Given the description of an element on the screen output the (x, y) to click on. 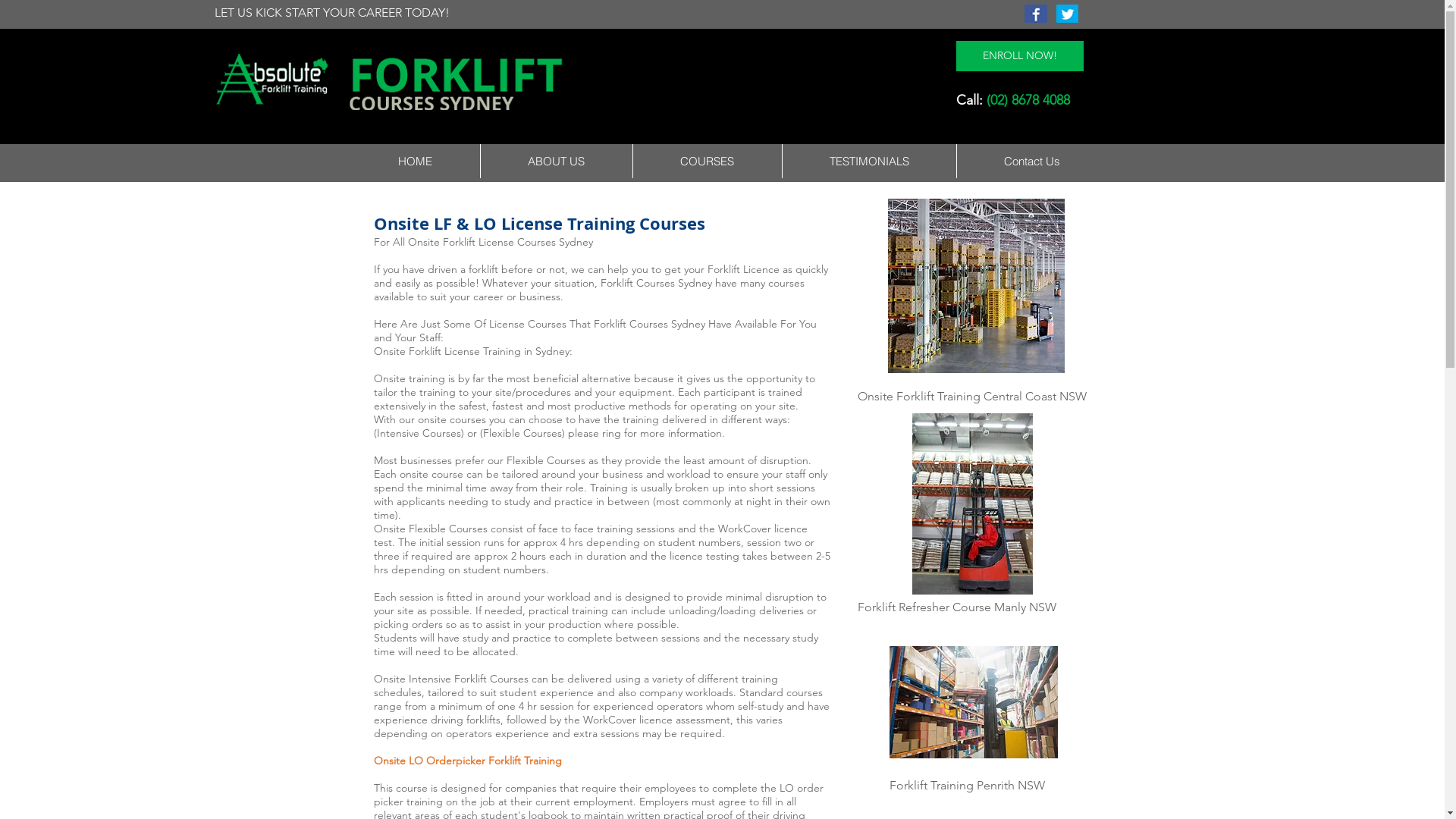
ABOUT US Element type: text (555, 161)
Contact Us Element type: text (1030, 161)
TESTIMONIALS Element type: text (868, 161)
HOME Element type: text (414, 161)
